Given the description of an element on the screen output the (x, y) to click on. 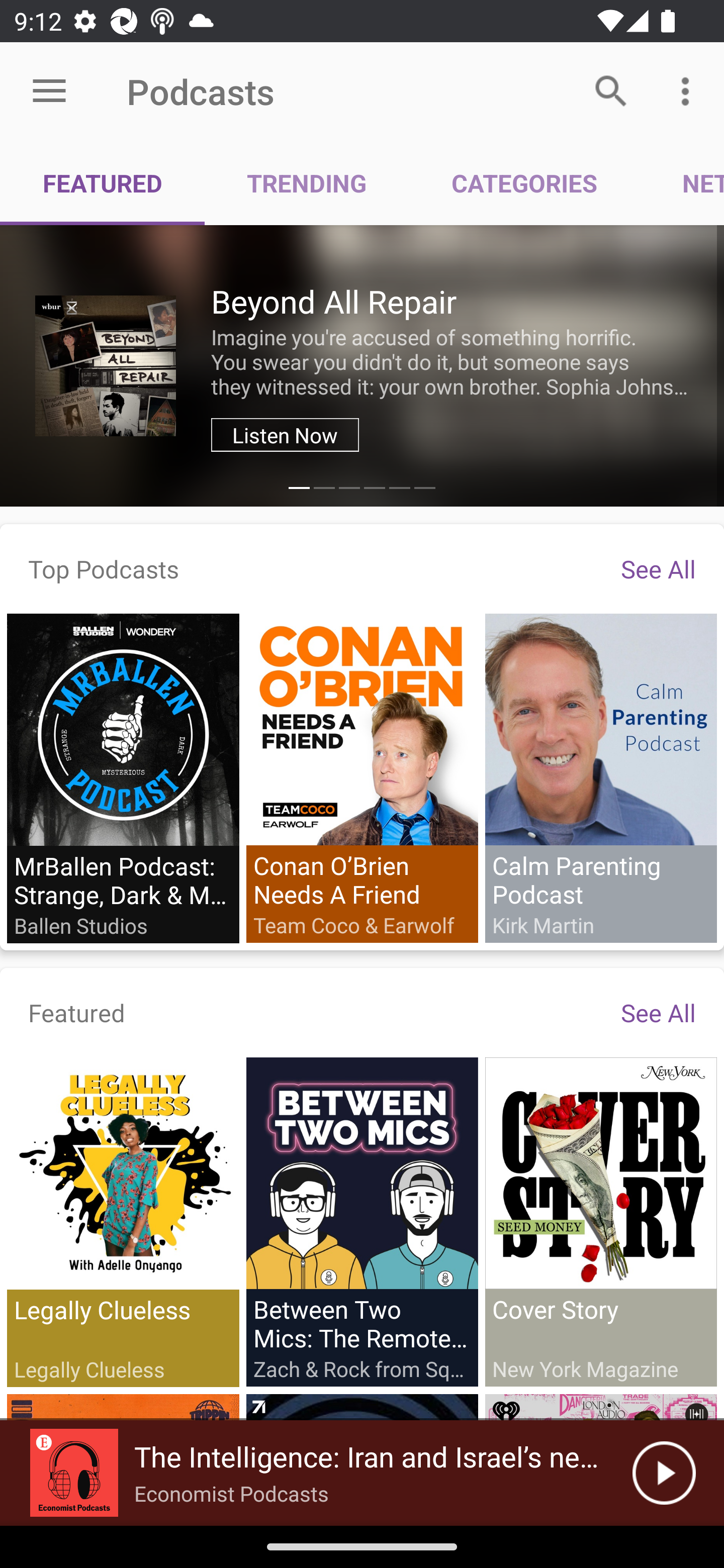
Open menu (49, 91)
Search (611, 90)
More options (688, 90)
FEATURED (102, 183)
TRENDING (306, 183)
CATEGORIES (524, 183)
Top Podcasts (103, 567)
See All (658, 567)
Conan O’Brien Needs A Friend Team Coco & Earwolf (361, 777)
Calm Parenting Podcast Kirk Martin (600, 777)
Featured (76, 1011)
See All (658, 1011)
Legally Clueless (123, 1221)
Cover Story New York Magazine (600, 1221)
Play (663, 1472)
